Given the description of an element on the screen output the (x, y) to click on. 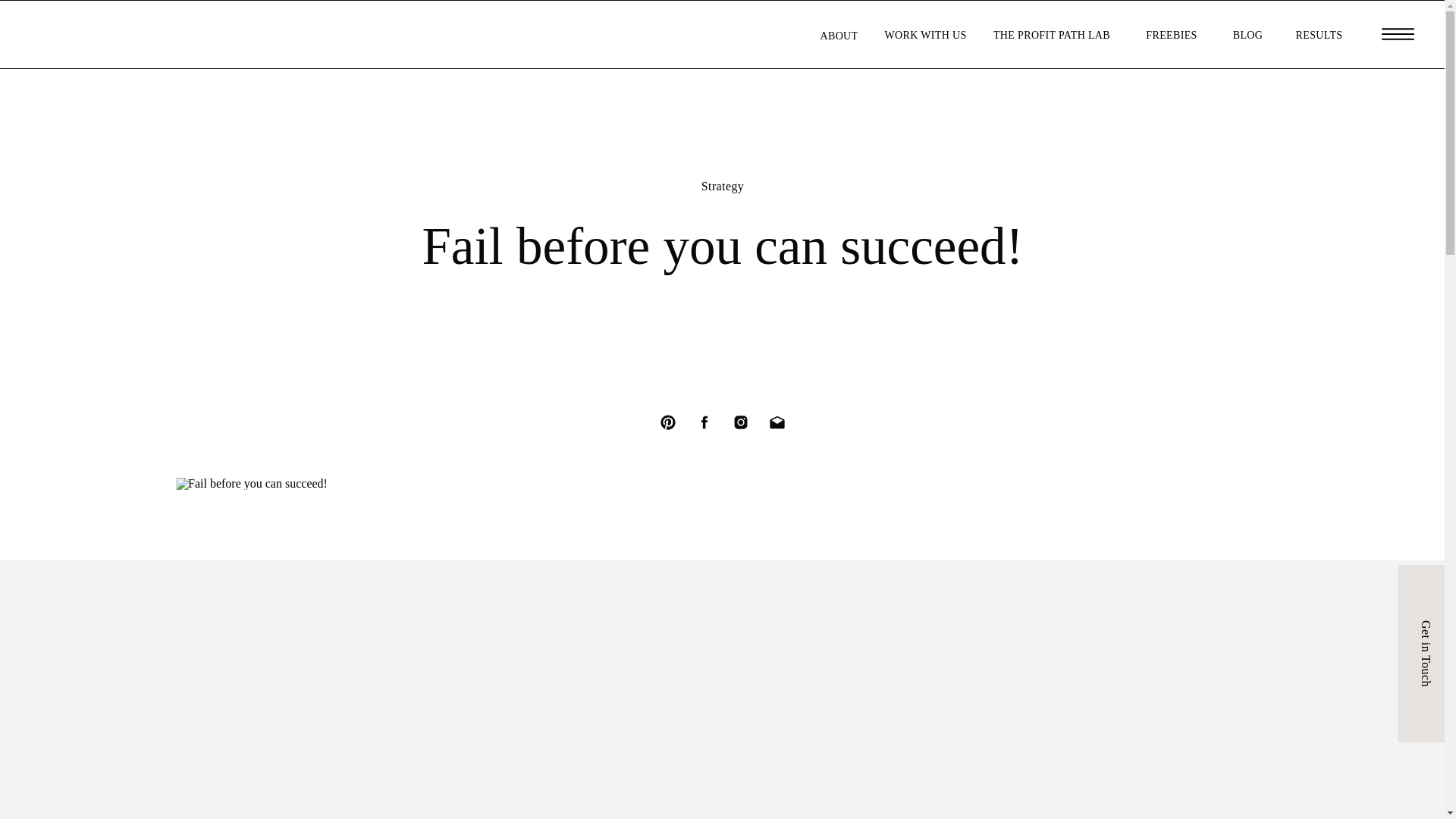
THE PROFIT PATH LAB (1051, 33)
FREEBIES (1171, 33)
WORK WITH US (925, 33)
BLOG (1247, 33)
ABOUT (838, 34)
Strategy (722, 185)
RESULTS (1319, 33)
